Given the description of an element on the screen output the (x, y) to click on. 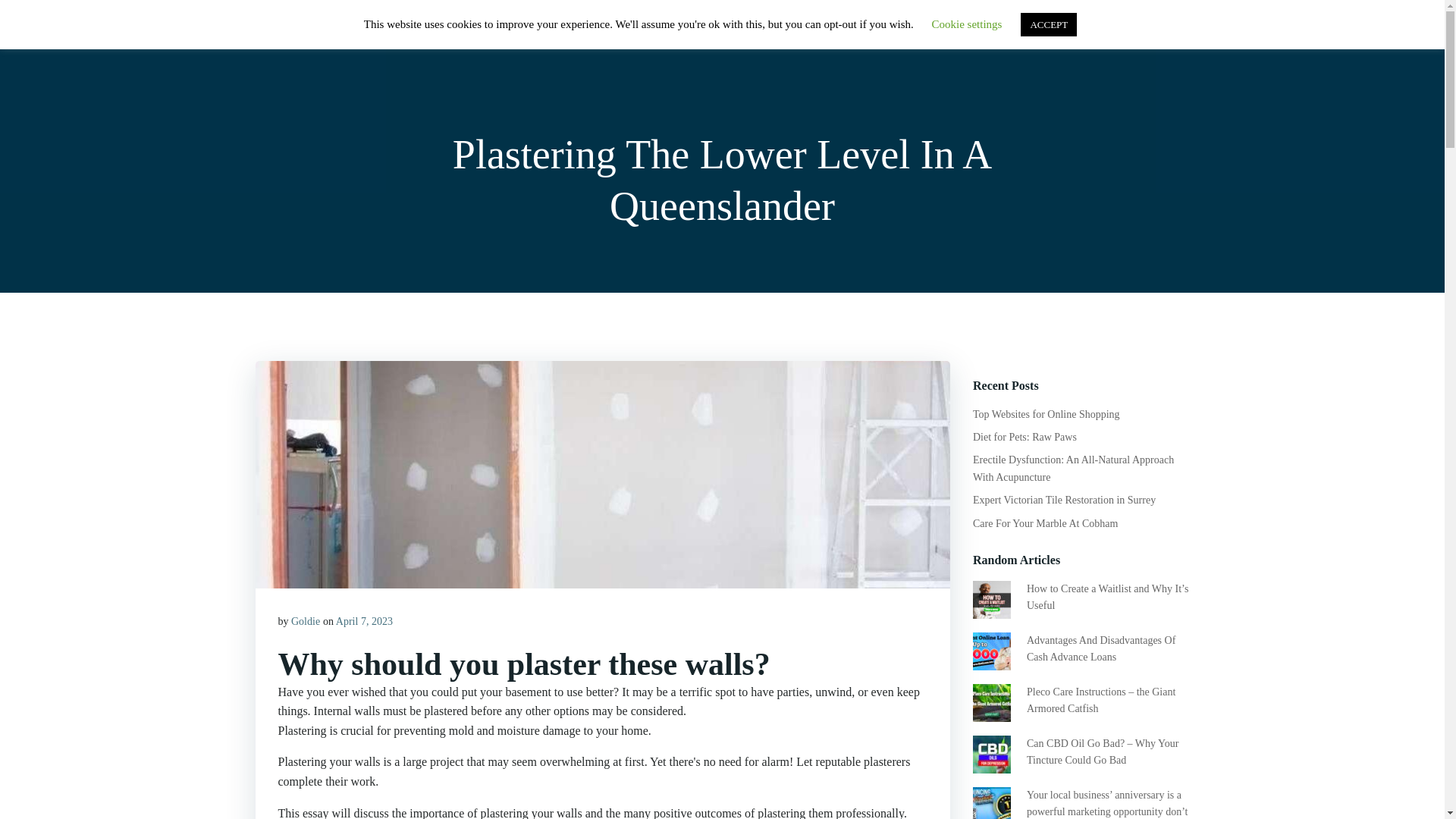
Advantages And Disadvantages Of Cash Advance Loans (1100, 648)
ARTICLES (1014, 33)
SHOP (942, 33)
Care For Your Marble At Cobham (1045, 523)
Top Websites for Online Shopping (1045, 414)
FyBix Pod (293, 33)
April 7, 2023 (364, 621)
HOME (879, 33)
Expert Victorian Tile Restoration in Surrey (1064, 500)
